Given the description of an element on the screen output the (x, y) to click on. 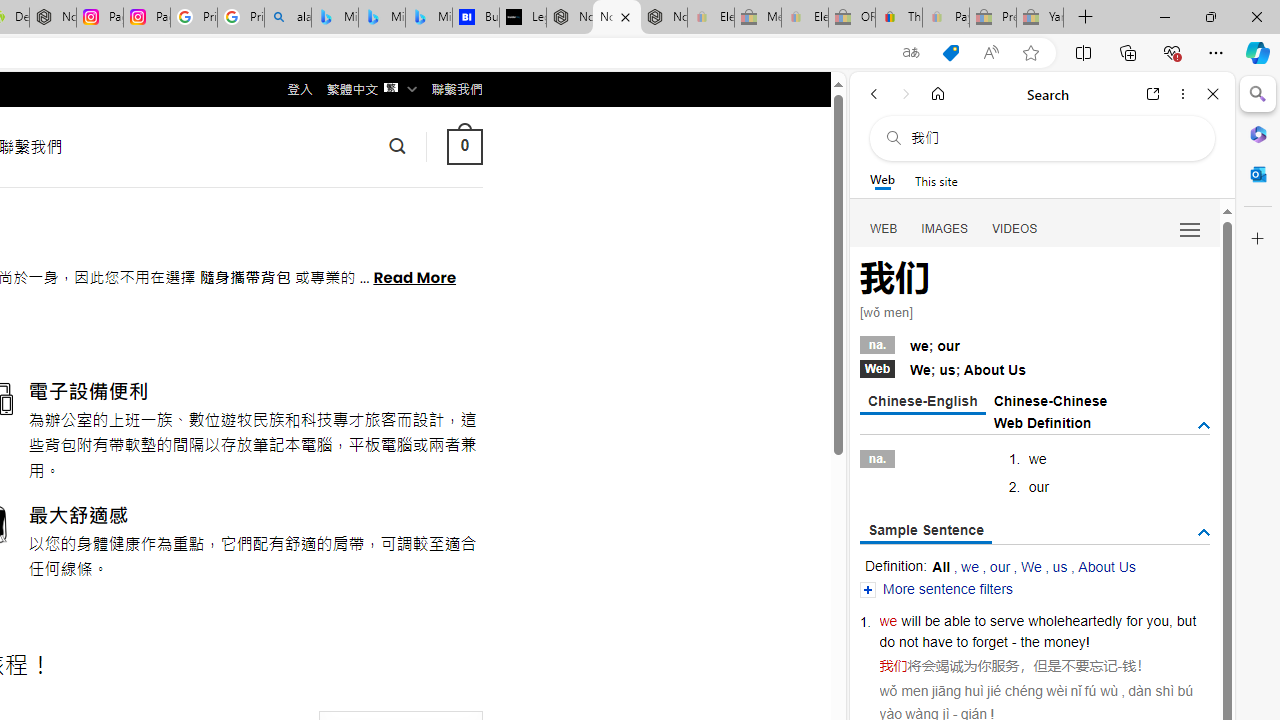
  0   (464, 146)
for (1134, 620)
Threats and offensive language policy | eBay (898, 17)
